Given the description of an element on the screen output the (x, y) to click on. 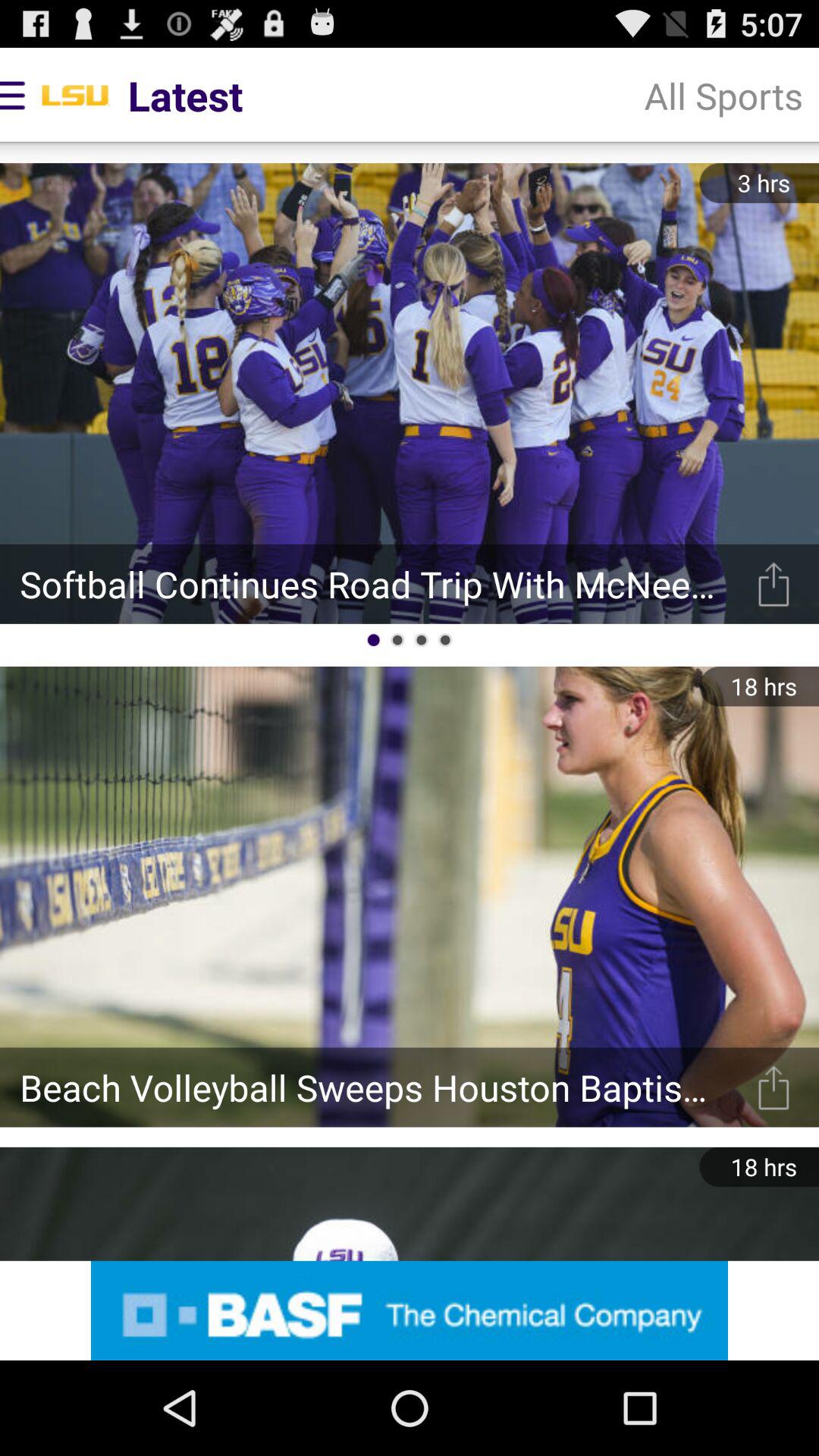
share this video (773, 1087)
